Given the description of an element on the screen output the (x, y) to click on. 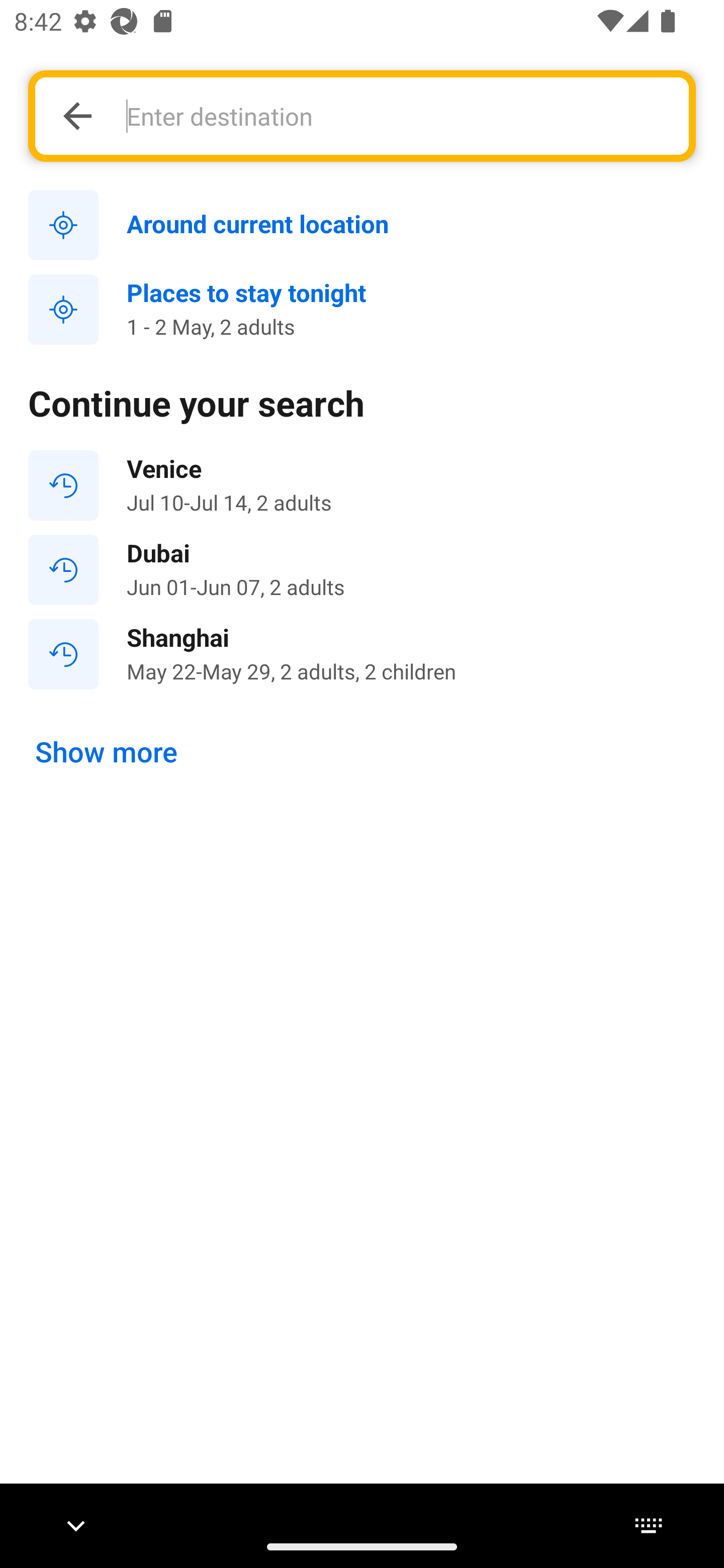
Enter destination (396, 115)
Around current location (362, 225)
Places to stay tonight 1 - 2 May, 2 adults (362, 309)
Venice Jul 10-Jul 14, 2 adults  (362, 485)
Dubai Jun 01-Jun 07, 2 adults  (362, 569)
Shanghai May 22-May 29, 2 adults, 2 children (362, 653)
Show more (106, 752)
